Given the description of an element on the screen output the (x, y) to click on. 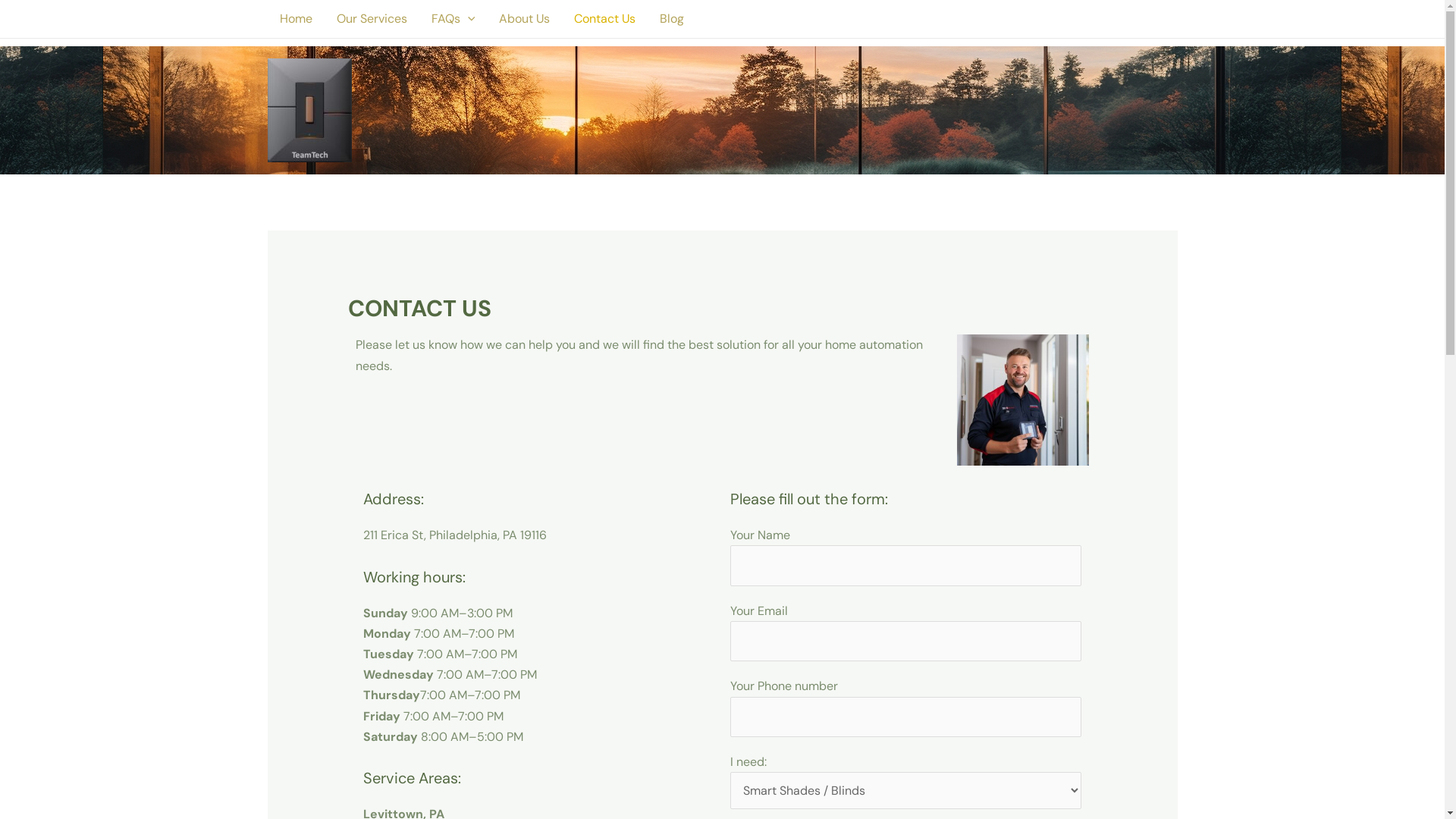
FAQs Element type: text (452, 18)
Contact Us Element type: text (604, 18)
About Us Element type: text (523, 18)
Blog Element type: text (671, 18)
Home Element type: text (294, 18)
Our Services Element type: text (371, 18)
